Given the description of an element on the screen output the (x, y) to click on. 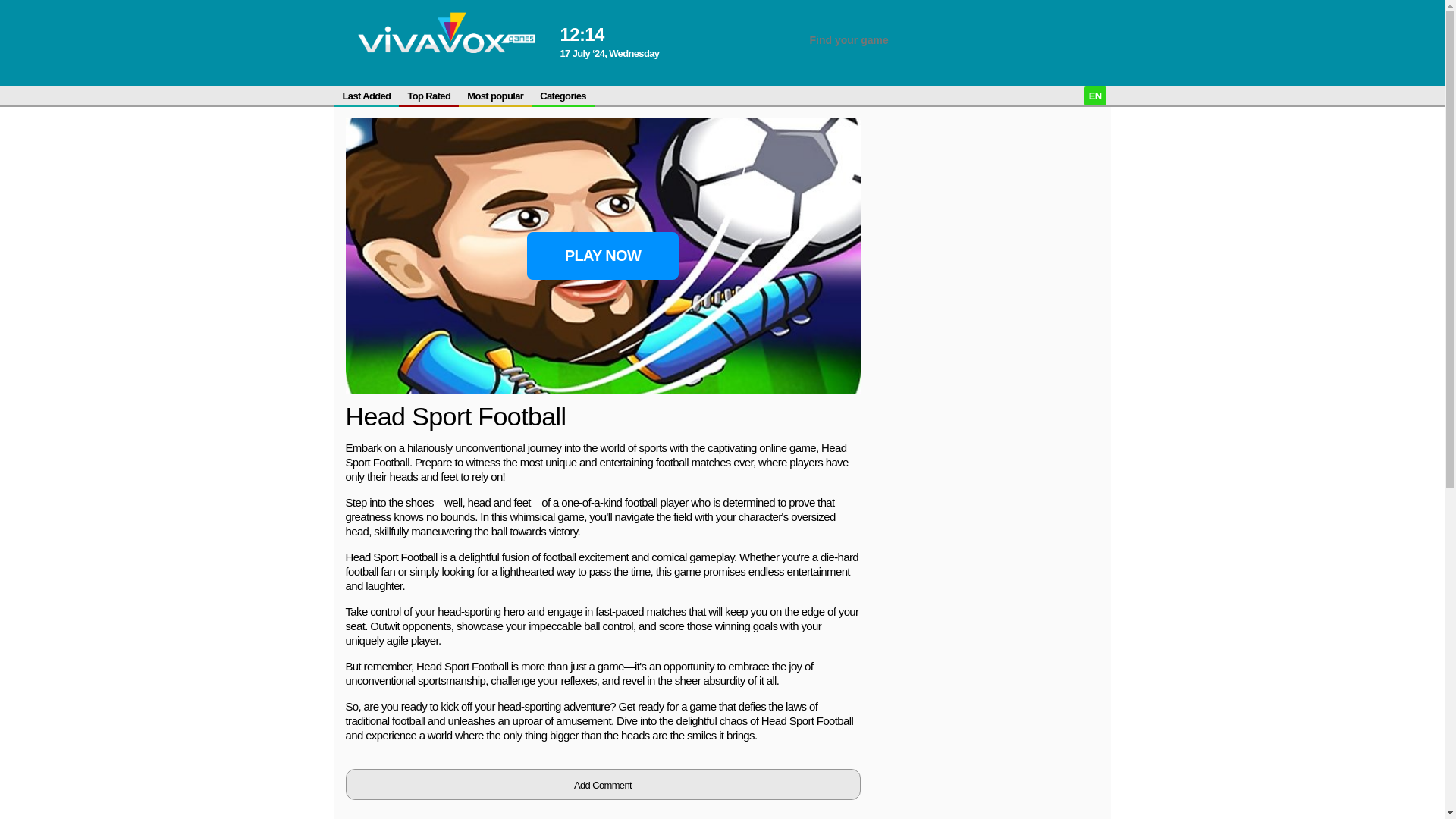
Most popular (494, 96)
Last Added (365, 96)
Top Rated (428, 96)
EN (1095, 95)
PLAY NOW (602, 255)
Categories (562, 96)
